Given the description of an element on the screen output the (x, y) to click on. 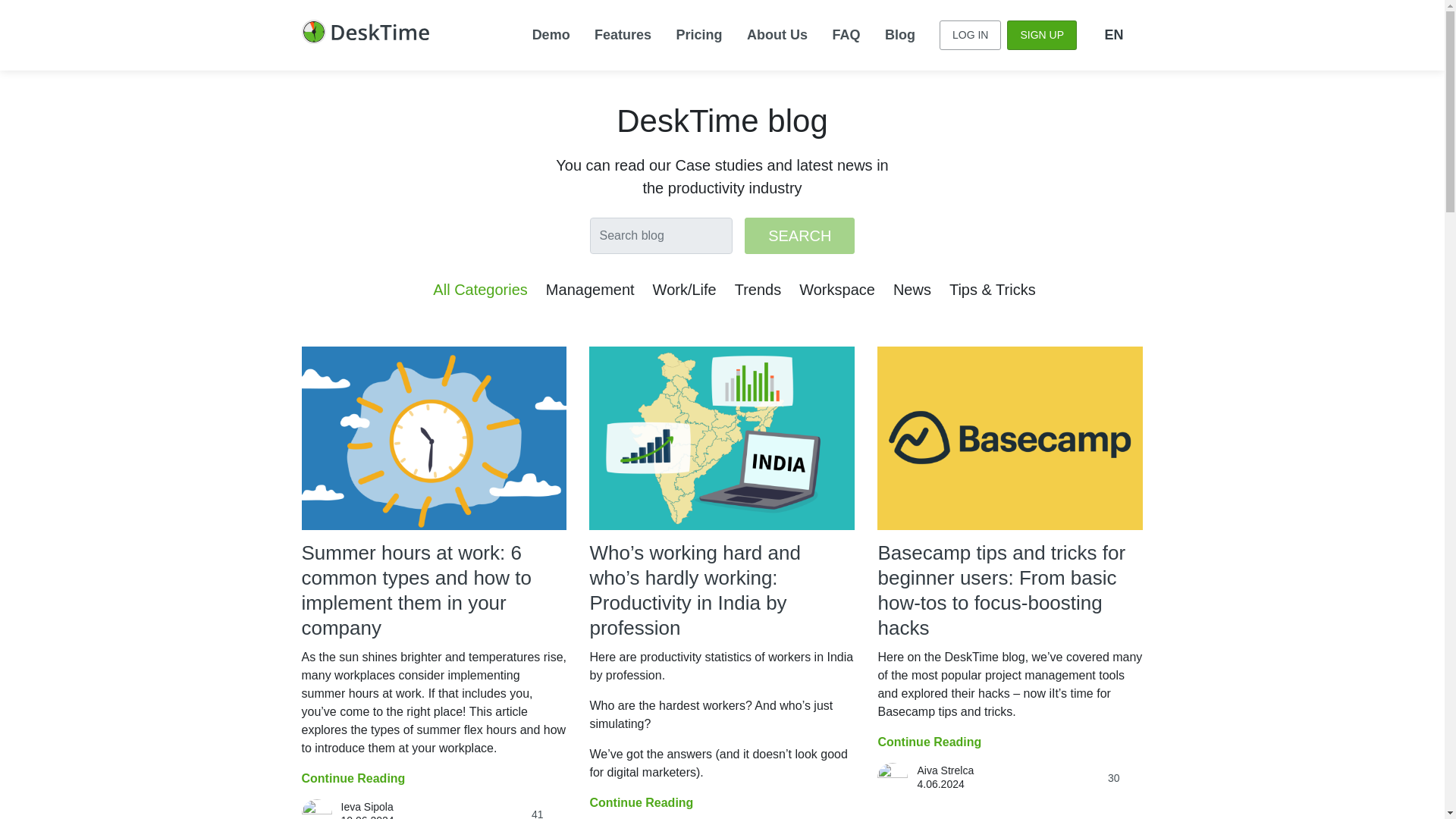
Demo (550, 35)
Trends (758, 289)
Pricing (699, 35)
Continue Reading (929, 741)
FAQ (846, 35)
EN (1111, 34)
SEARCH (799, 235)
30 (1125, 778)
Workspace (837, 289)
Continue Reading (353, 778)
